Given the description of an element on the screen output the (x, y) to click on. 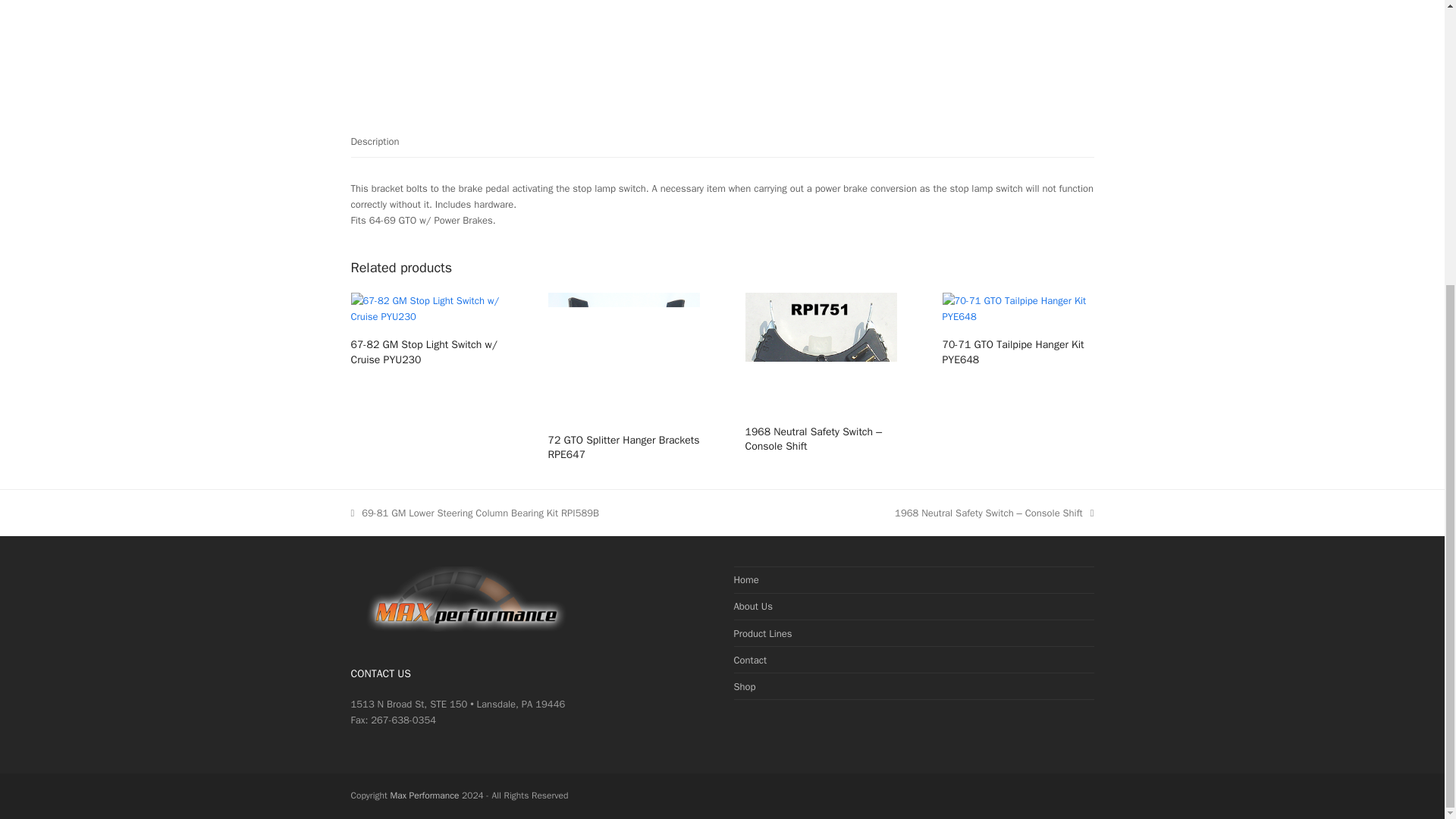
70-71 GTO Tailpipe Hanger Kit PYE648 (1017, 351)
Description (374, 141)
72 GTO Splitter Hanger Brackets RPE647 (622, 447)
